Given the description of an element on the screen output the (x, y) to click on. 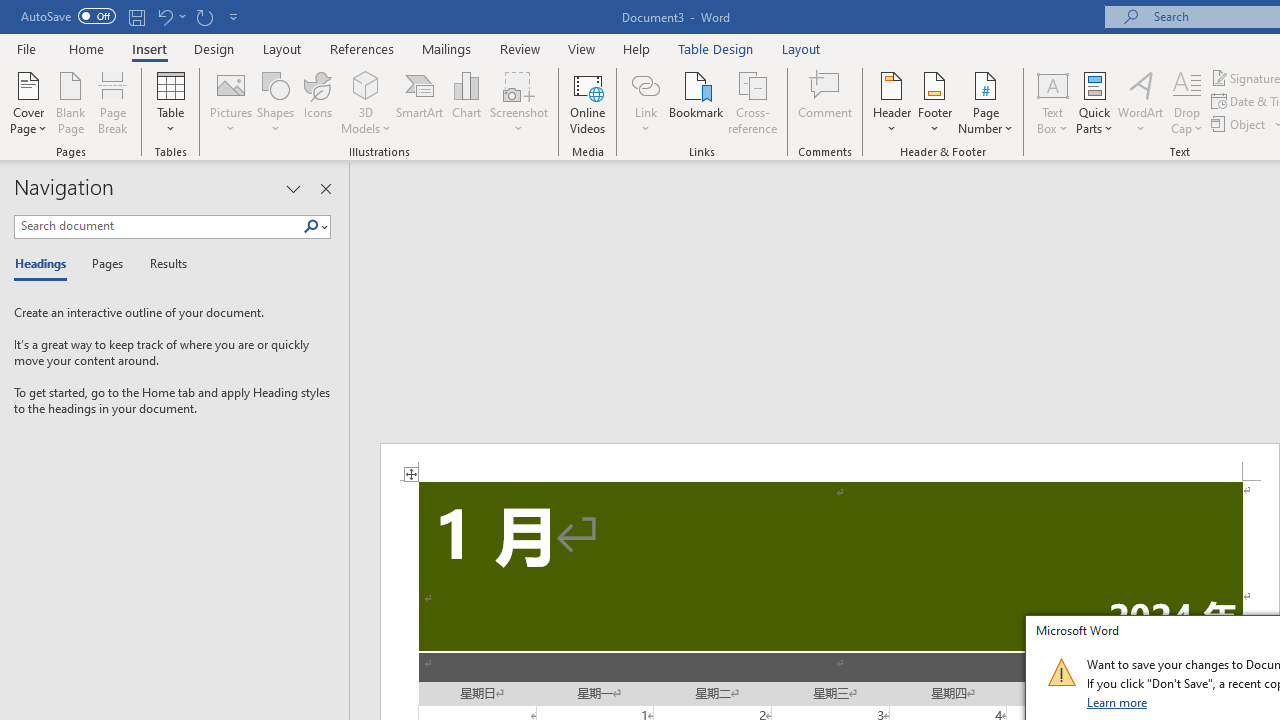
Chart... (466, 102)
Cross-reference... (752, 102)
Footer (934, 102)
Page Break (113, 102)
Page Number (986, 102)
Link (645, 84)
Table (170, 102)
Text Box (1052, 102)
Screenshot (518, 102)
